Given the description of an element on the screen output the (x, y) to click on. 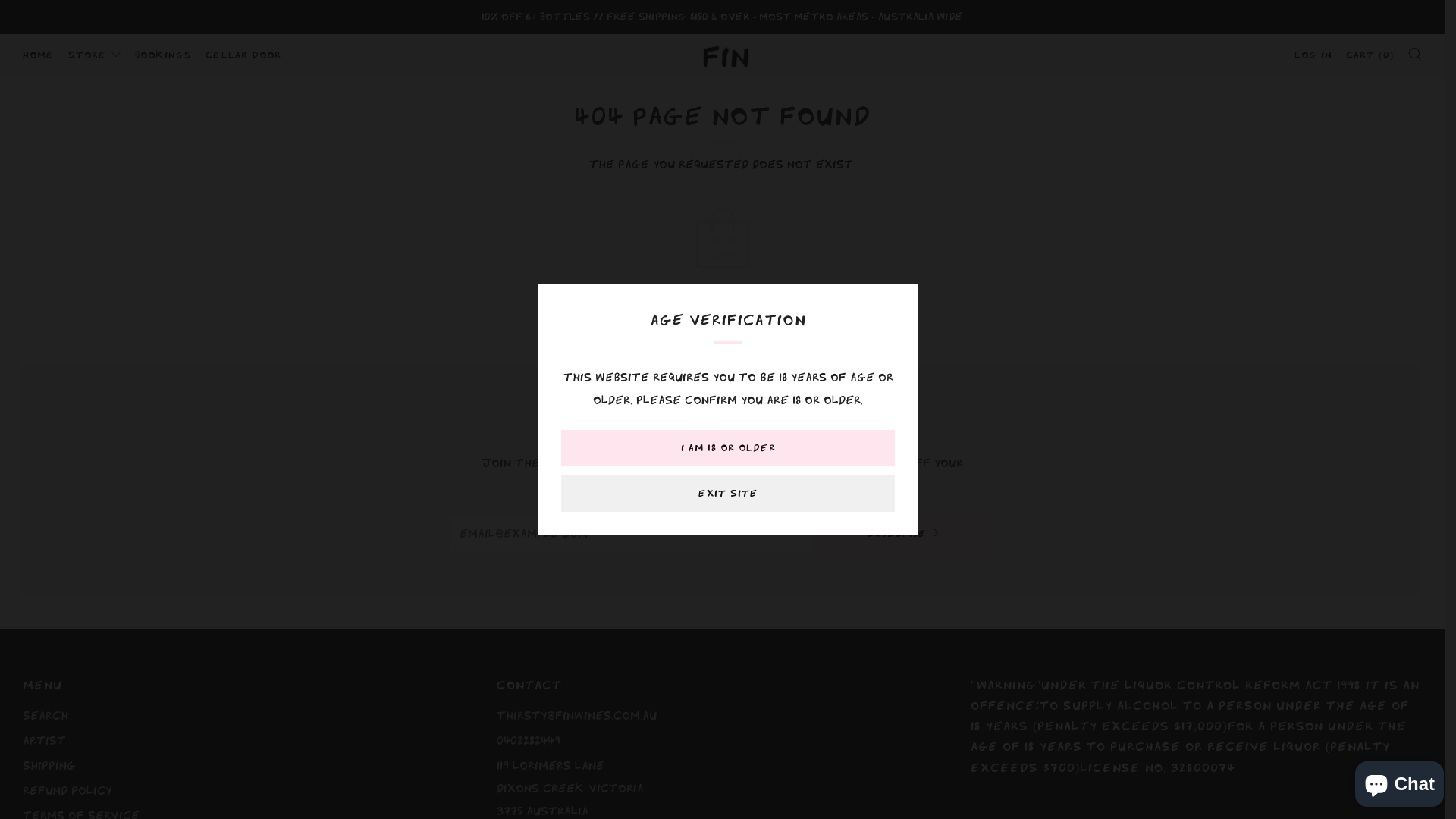
I AM 18 OR OLDER Element type: text (727, 447)
Shopify online store chat Element type: hover (1399, 780)
SUBSCRIBE Element type: text (903, 533)
Refund Policy Element type: text (66, 790)
0402282449 Element type: text (528, 740)
EXIT SITE Element type: text (727, 493)
Shipping Element type: text (48, 765)
CONTINUE SHOPPING Element type: text (721, 315)
Search Element type: text (45, 715)
BOOKINGS Element type: text (162, 55)
SEARCH Element type: text (1414, 52)
thirsty@finwines.com.au Element type: text (576, 715)
STORE Element type: text (94, 55)
HOME Element type: text (38, 55)
CELLAR DOOR Element type: text (243, 55)
LOG IN Element type: text (1313, 55)
CART (0) Element type: text (1369, 55)
Artist Element type: text (43, 740)
